Given the description of an element on the screen output the (x, y) to click on. 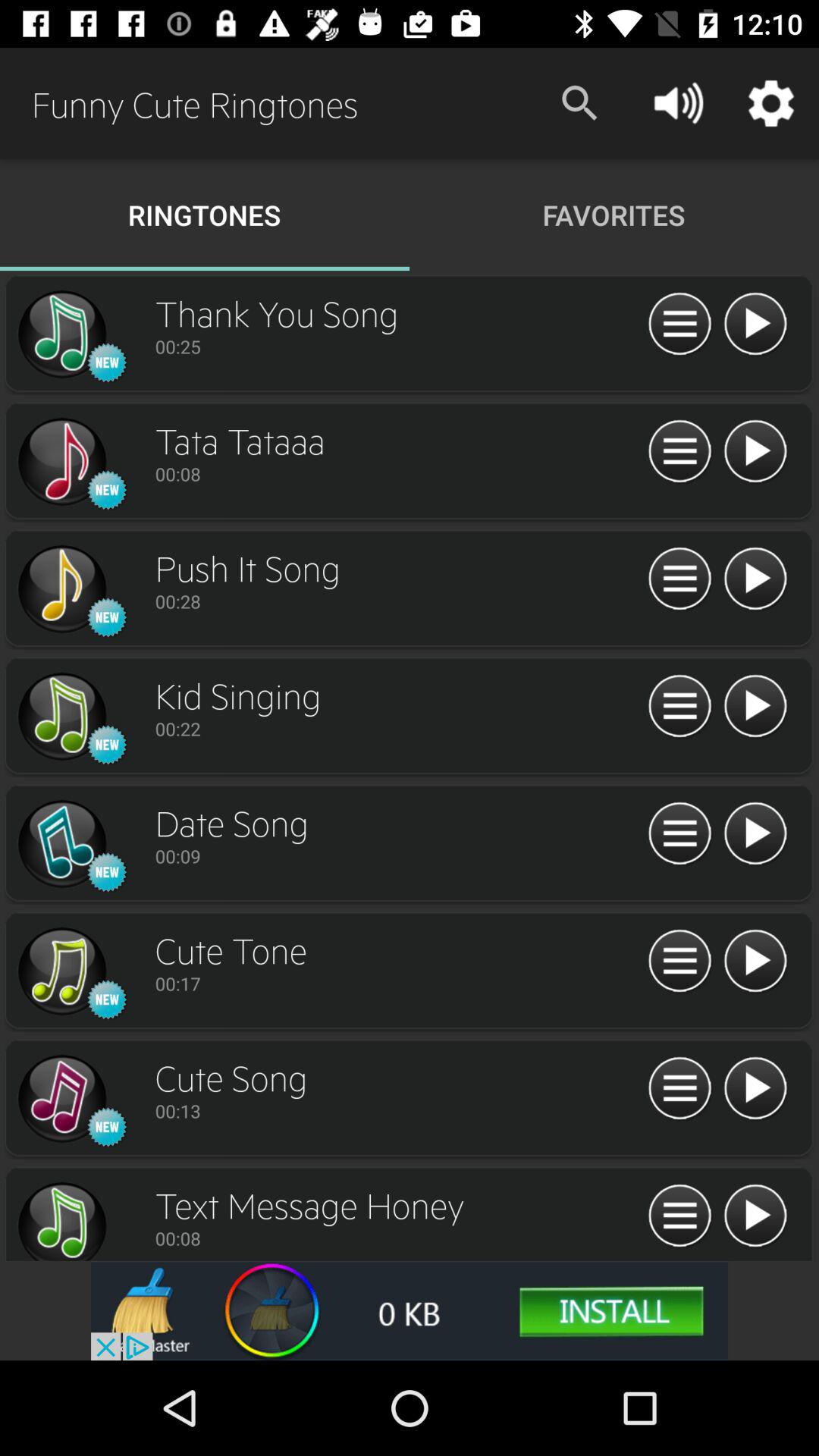
view menu (679, 834)
